Given the description of an element on the screen output the (x, y) to click on. 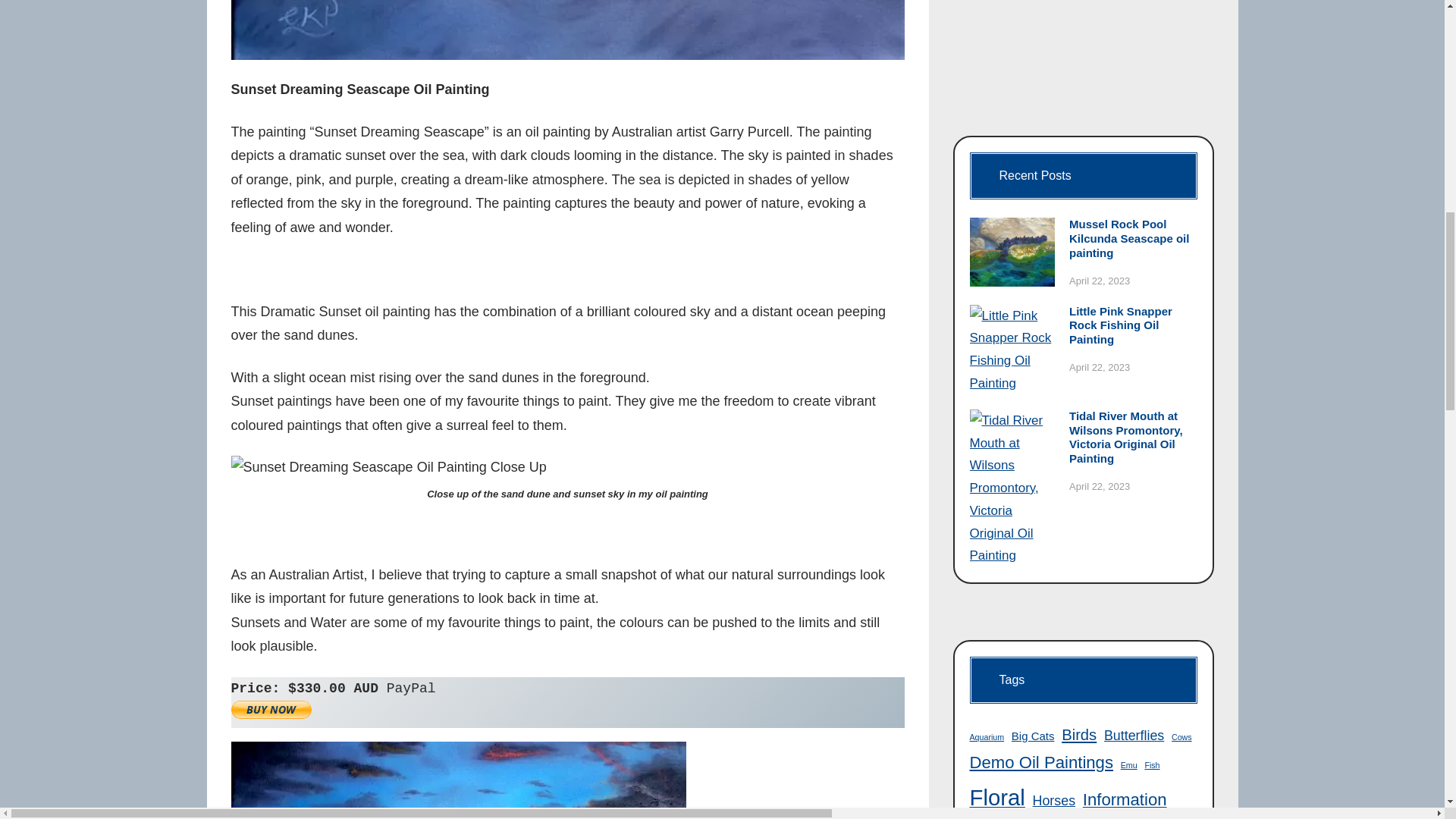
Mussel Rock Pool Kilcunda Seascape oil painting (1132, 238)
Little Pink Snapper Rock Fishing Oil Painting (1132, 325)
April 22, 2023 (1098, 367)
April 22, 2023 (1098, 280)
Advertisement (1082, 55)
